Given the description of an element on the screen output the (x, y) to click on. 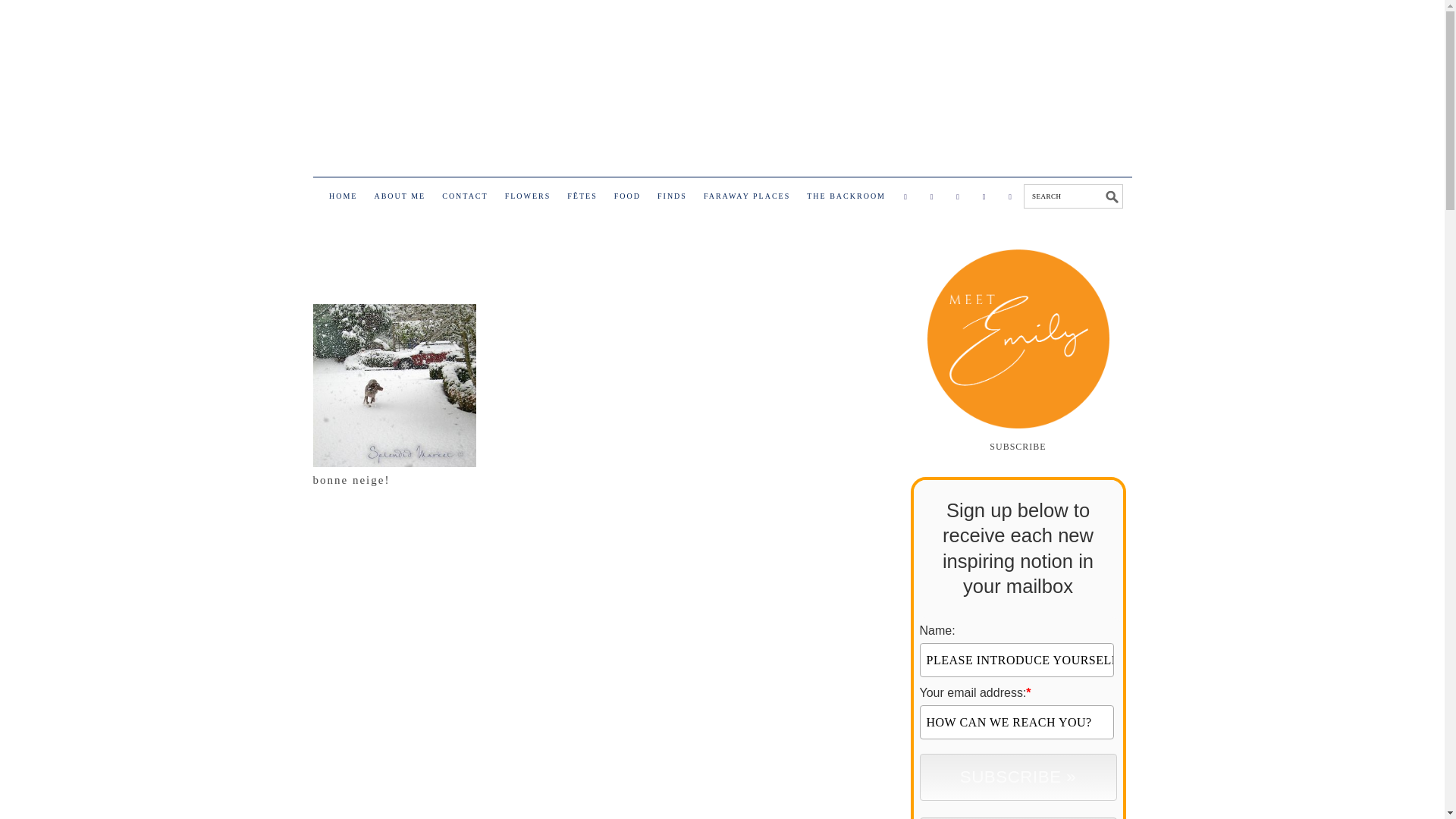
Instagram (958, 197)
How can we reach you? (1015, 722)
Friend me on Facebook (906, 197)
click to join (1017, 776)
THE BACKROOM (846, 198)
Please introduce yourself (1015, 659)
FINDS (671, 198)
Follow Me (931, 197)
FLOWERS (528, 198)
bonne neige! (351, 480)
CONTACT (464, 198)
FOOD (627, 198)
